Given the description of an element on the screen output the (x, y) to click on. 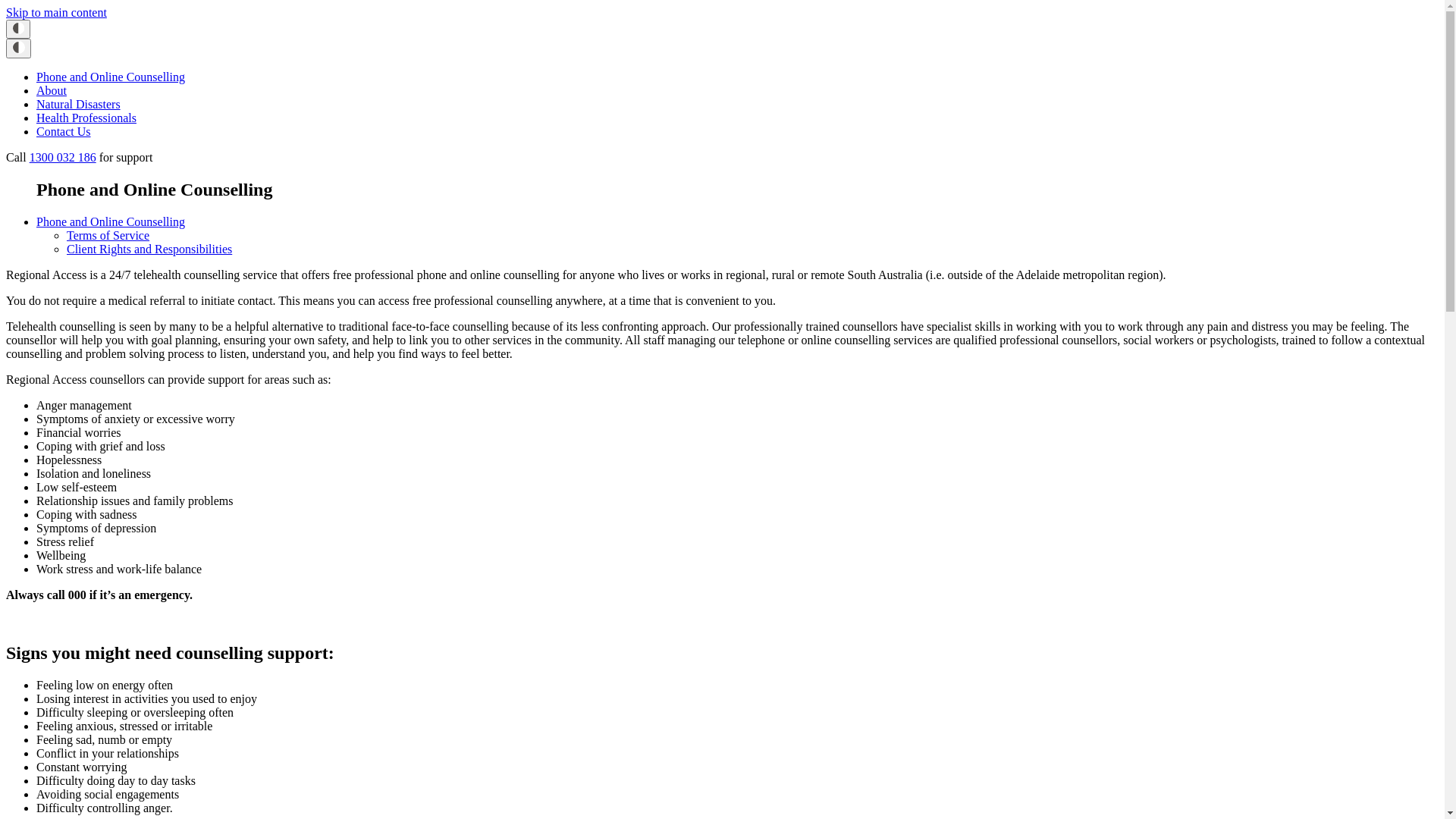
Health Professionals Element type: text (86, 117)
1300 032 186 Element type: text (62, 156)
Terms of Service Element type: text (107, 235)
About Element type: text (51, 90)
Phone and Online Counselling Element type: text (110, 76)
Phone and Online Counselling Element type: text (110, 221)
Toggle High Contrast icon Element type: text (18, 28)
Skip to main content Element type: text (56, 12)
Toggle High Contrast icon Element type: text (18, 48)
Client Rights and Responsibilities Element type: text (149, 248)
Contact Us Element type: text (63, 131)
Natural Disasters Element type: text (78, 103)
